Given the description of an element on the screen output the (x, y) to click on. 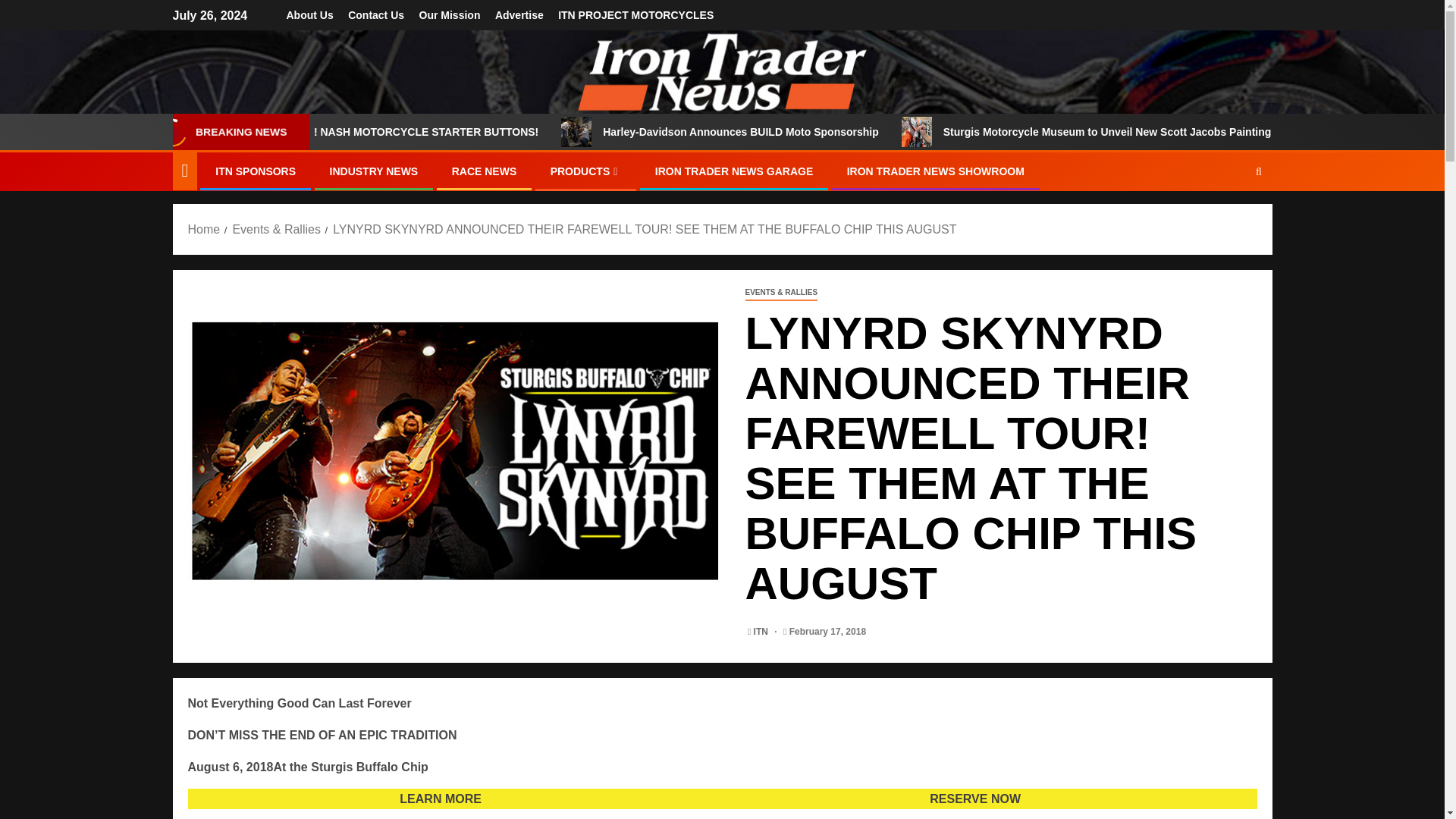
PUSH TO GO!!!! NASH MOTORCYCLE STARTER BUTTONS! (486, 132)
ITN PROJECT MOTORCYCLES (635, 15)
Home (204, 228)
IRON TRADER NEWS SHOWROOM (936, 171)
Contact Us (375, 15)
Harley-Davidson Announces BUILD Moto Sponsorship (838, 132)
Our Mission (449, 15)
ITN SPONSORS (255, 171)
Advertise (519, 15)
Search (1229, 217)
ITN (762, 631)
IRON TRADER NEWS GARAGE (733, 171)
RACE NEWS (483, 171)
RESERVE NOW (975, 798)
